Given the description of an element on the screen output the (x, y) to click on. 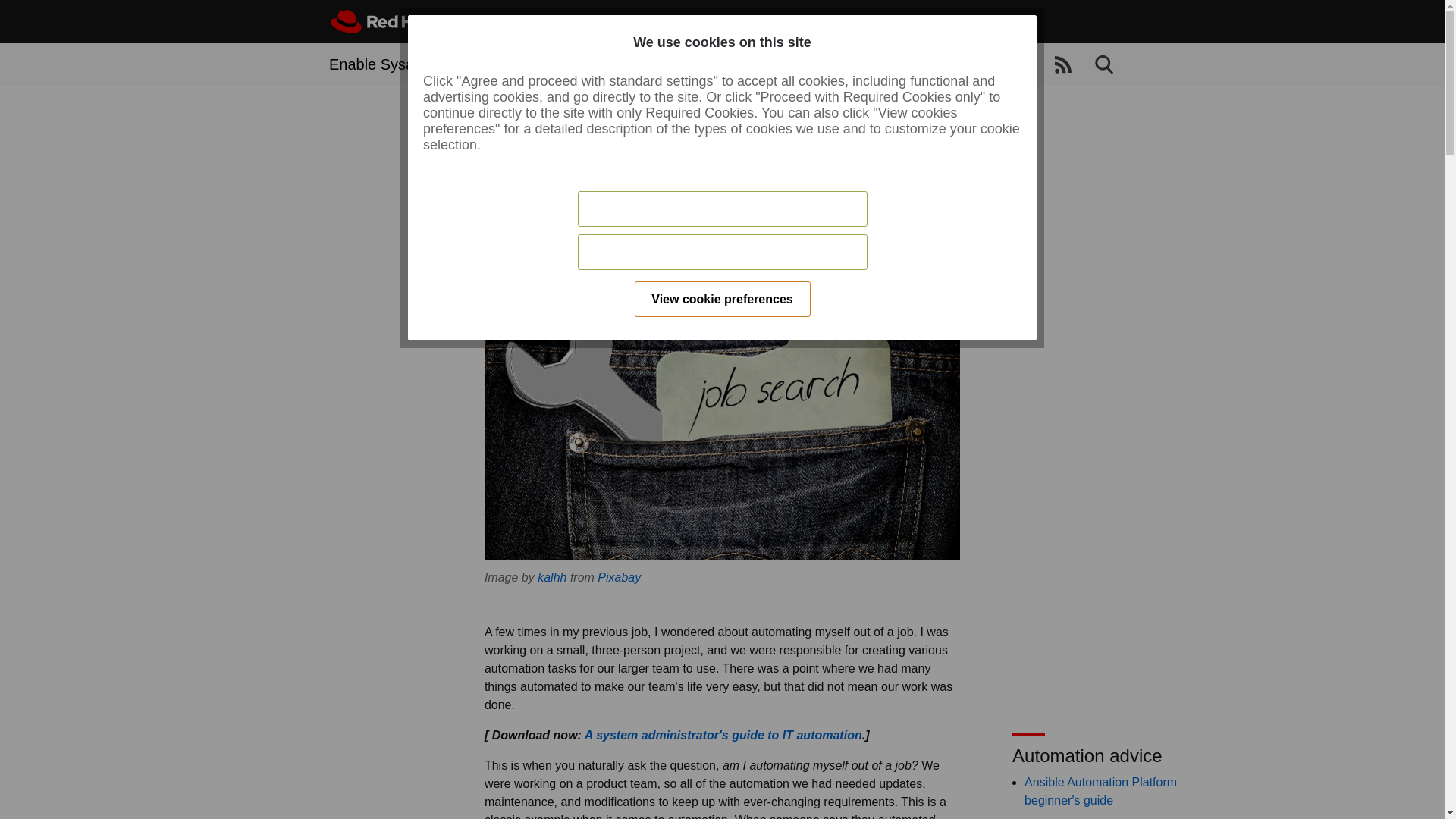
Enable Sysadmin (387, 64)
Pixabay (618, 576)
Ansible Automation Platform beginner's guide (1100, 790)
Articles (513, 64)
kalhh (551, 576)
Subscribe to our RSS feed or Email newsletter (1062, 64)
A system administrator's guide to IT automation (723, 735)
